Given the description of an element on the screen output the (x, y) to click on. 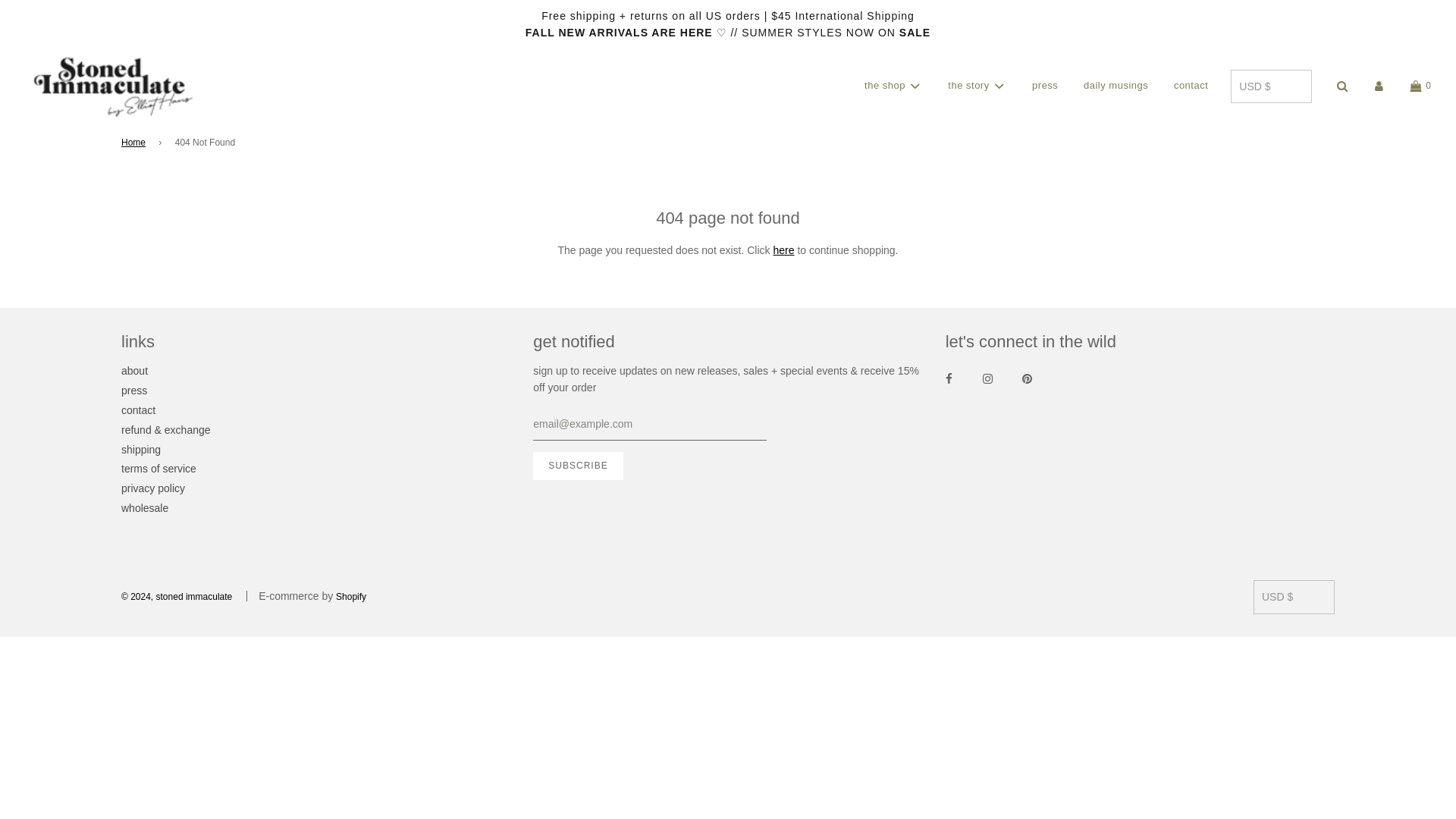
Log in (1378, 85)
Back to the frontpage (135, 142)
Subscribe (577, 465)
